Given the description of an element on the screen output the (x, y) to click on. 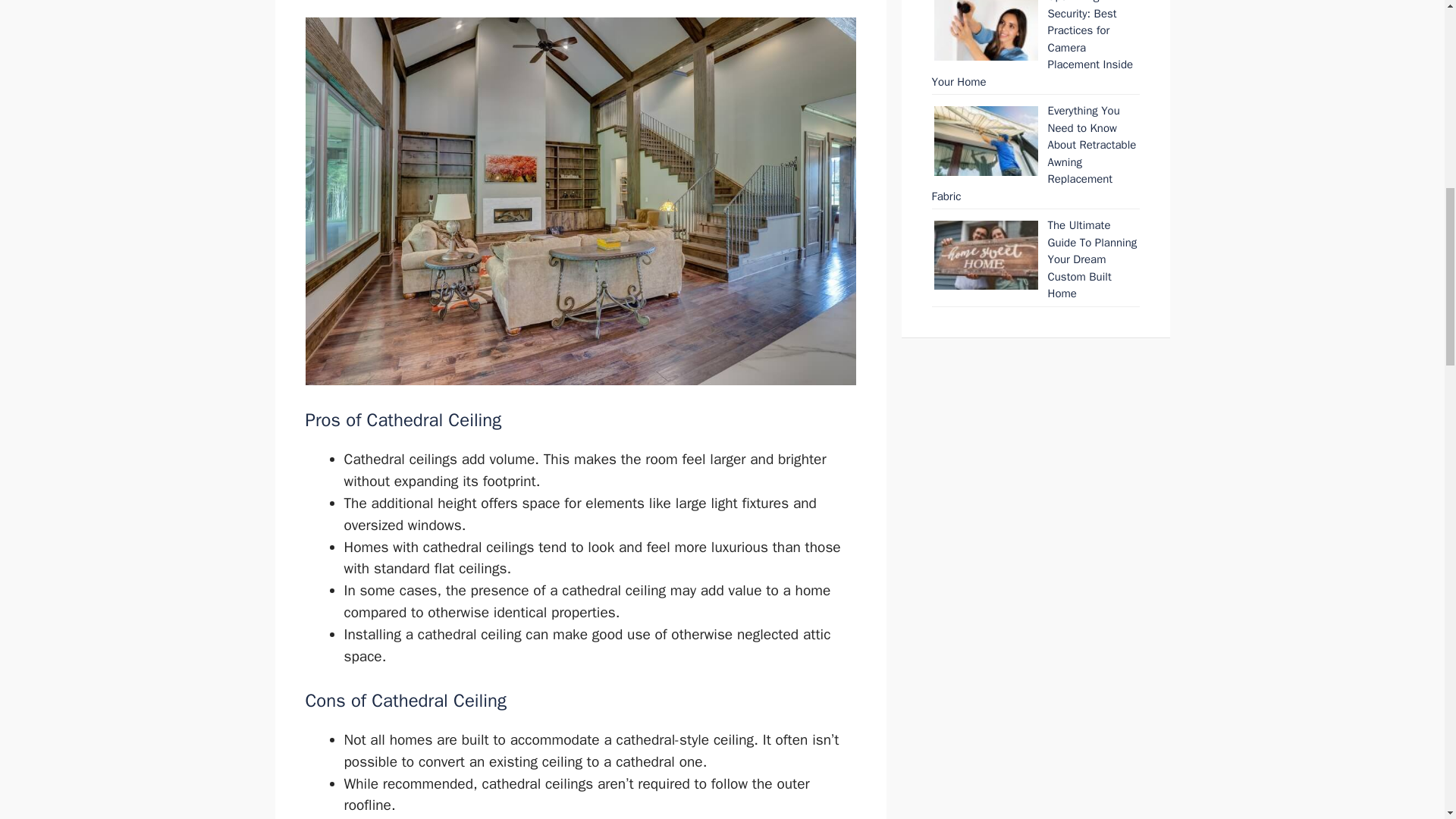
The Ultimate Guide To Planning Your Dream Custom Built Home (1092, 259)
